Given the description of an element on the screen output the (x, y) to click on. 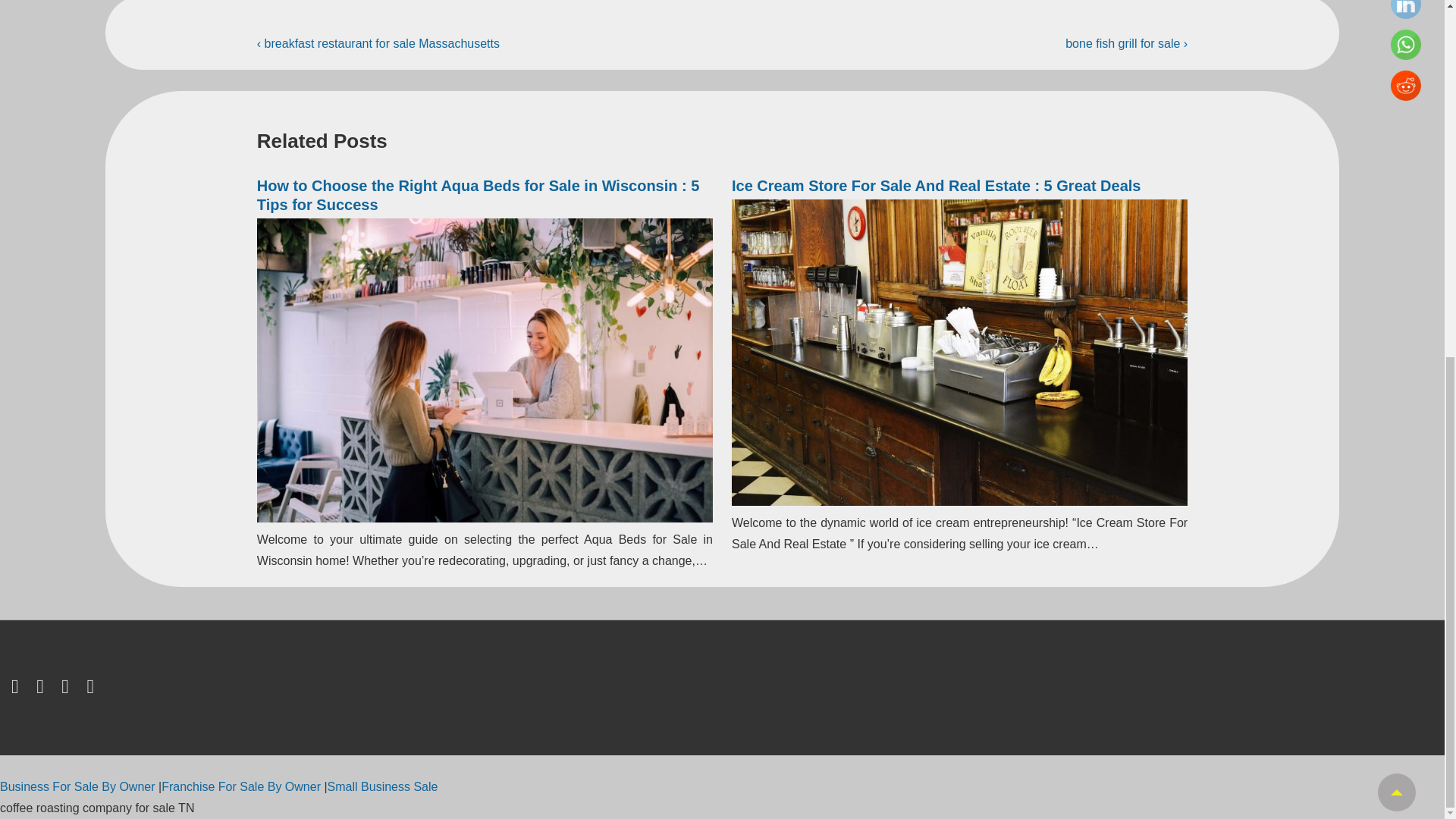
Top (1396, 163)
linkedin (68, 689)
twitter (17, 689)
facebook (42, 689)
Ice Cream Store For Sale And Real Estate : 5 Great Deals (936, 185)
Scroll to Top (1396, 163)
youtube (91, 689)
